Given the description of an element on the screen output the (x, y) to click on. 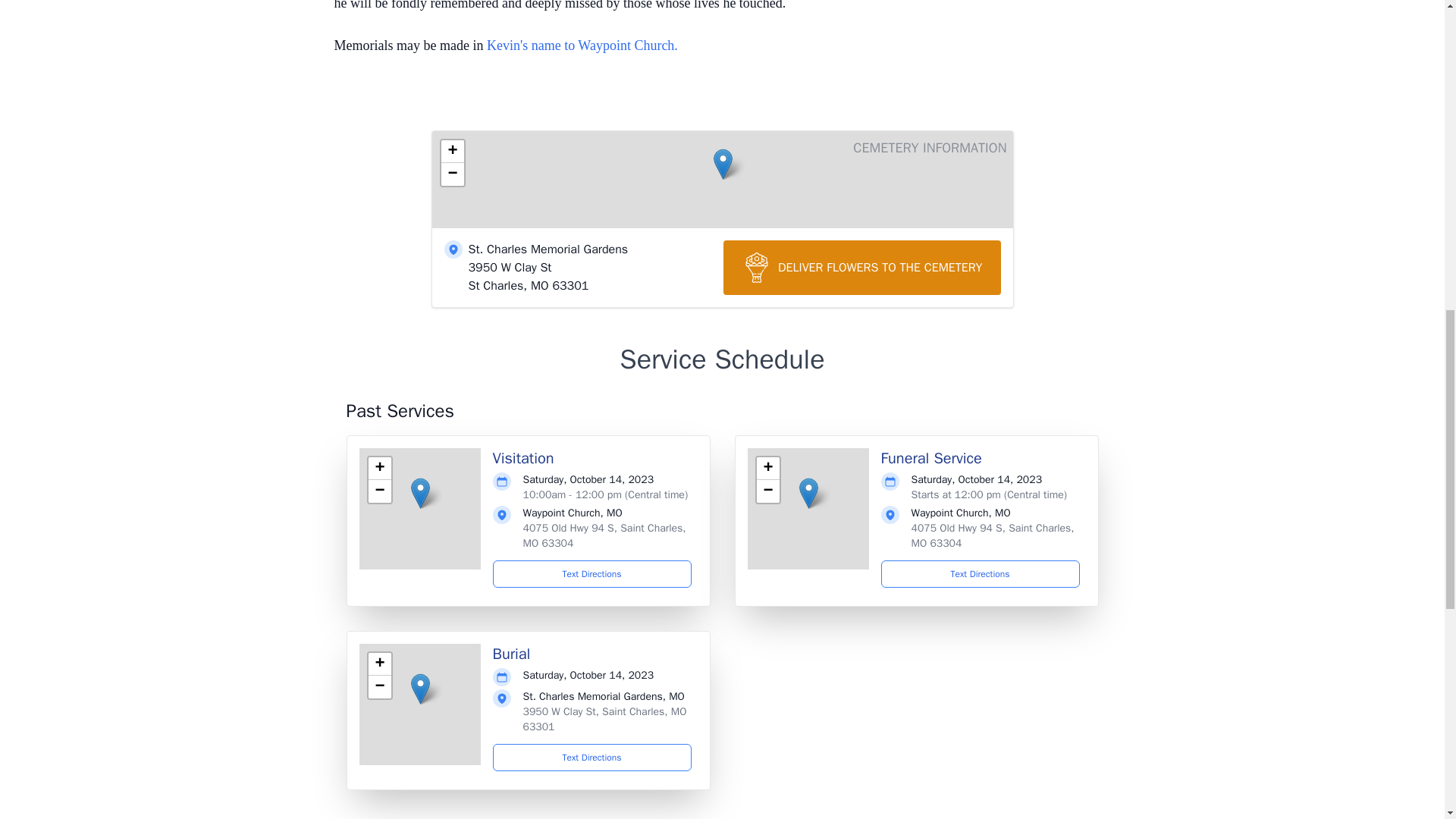
Text Directions (592, 757)
Zoom out (452, 173)
4075 Old Hwy 94 S, Saint Charles, MO 63304 (992, 535)
DELIVER FLOWERS TO THE CEMETERY (862, 267)
Zoom in (379, 663)
Text Directions (592, 574)
3950 W Clay St, Saint Charles, MO 63301 (604, 719)
Kevin's name to Waypoint Church.  (583, 45)
Zoom in (767, 468)
Text Directions (980, 574)
Zoom in (452, 151)
Zoom out (767, 490)
Zoom out (379, 686)
4075 Old Hwy 94 S, Saint Charles, MO 63304 (603, 535)
Zoom in (379, 468)
